Given the description of an element on the screen output the (x, y) to click on. 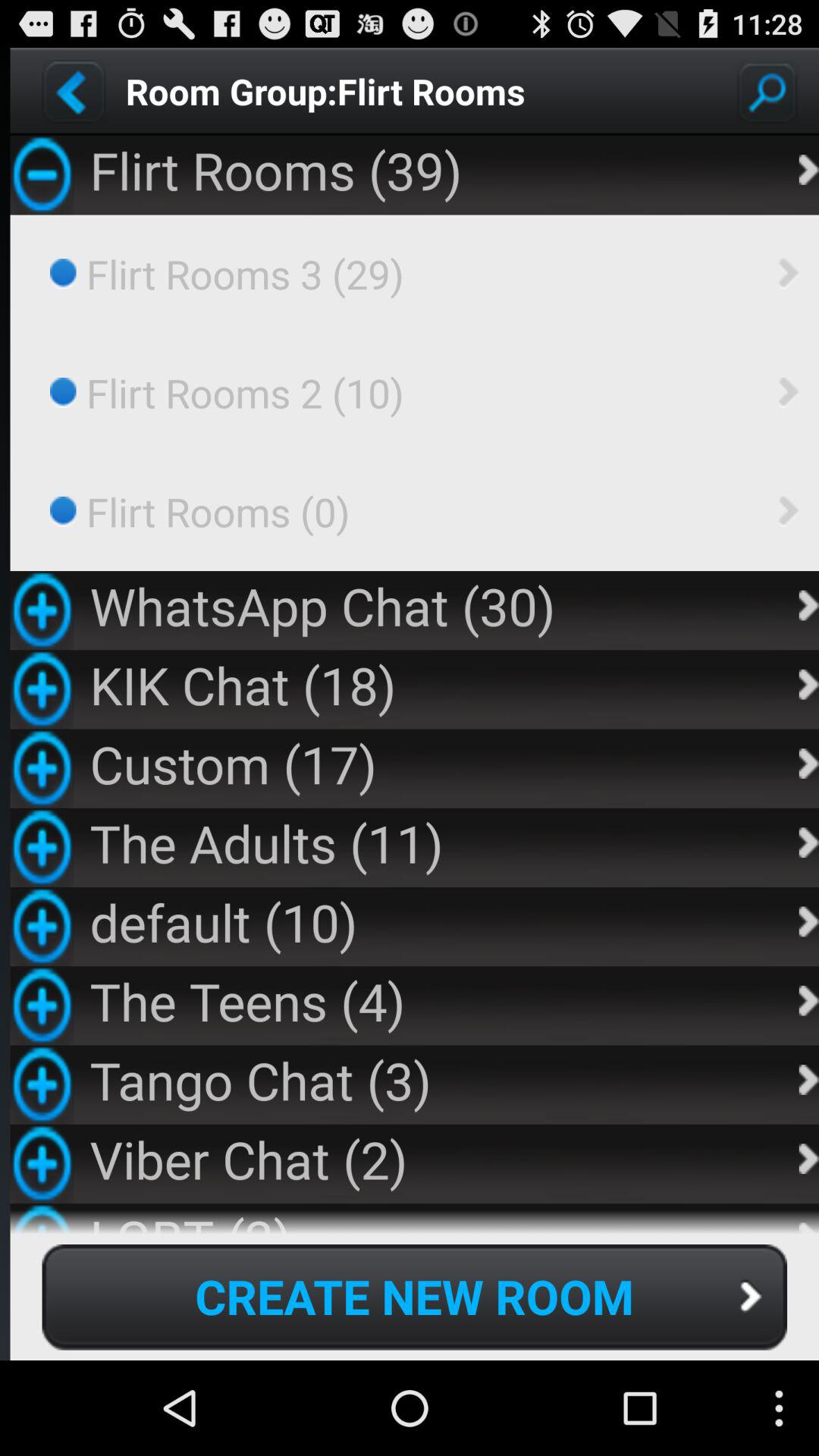
choose create new room item (414, 1297)
